Given the description of an element on the screen output the (x, y) to click on. 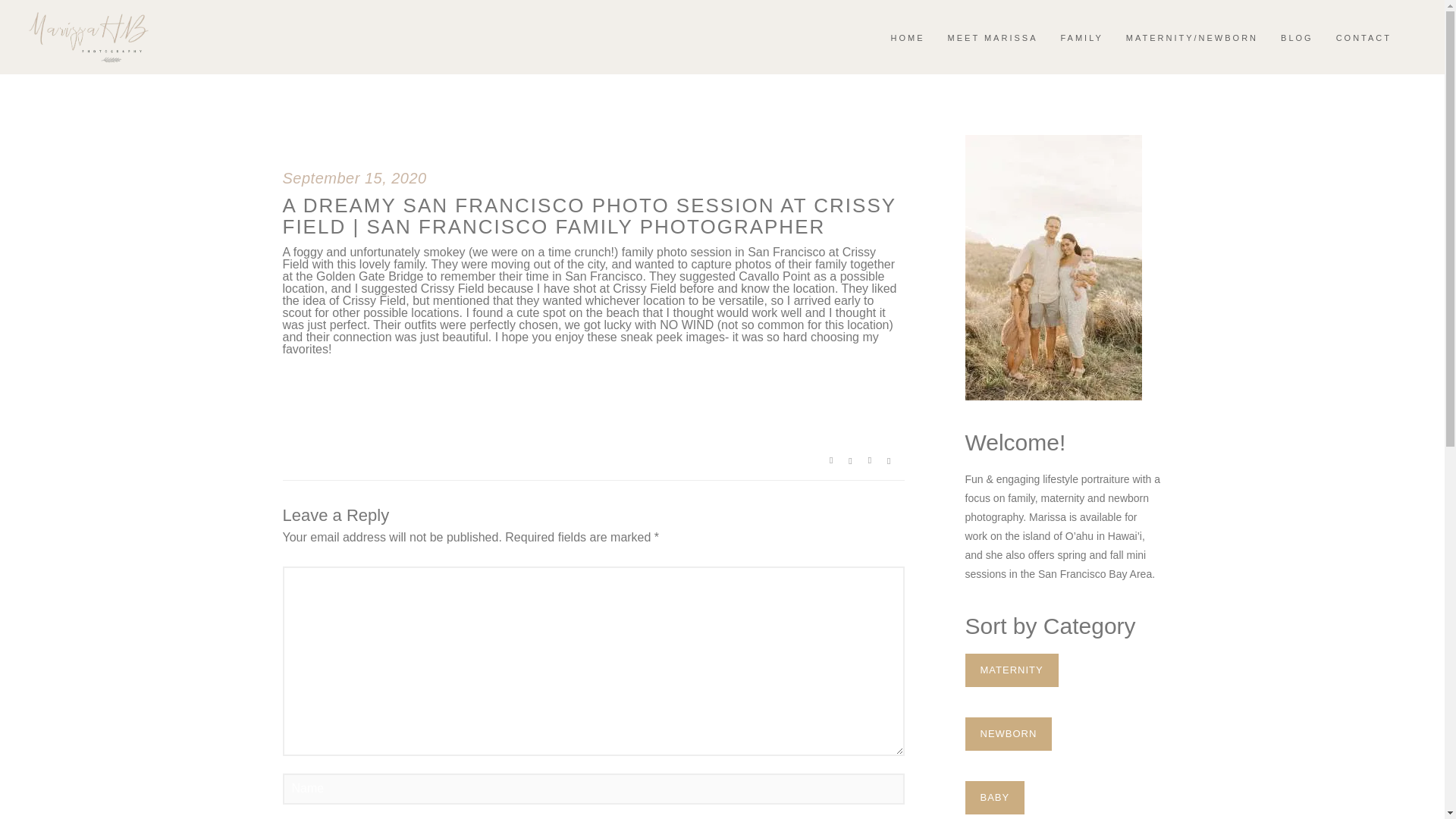
CONTACT (1363, 37)
MEET MARISSA (992, 37)
HOME (908, 37)
BLOG (1296, 37)
Blog (1296, 37)
BABY (994, 797)
Family (1080, 37)
NEWBORN (1007, 734)
MATERNITY (1010, 670)
Contact (1363, 37)
